Given the description of an element on the screen output the (x, y) to click on. 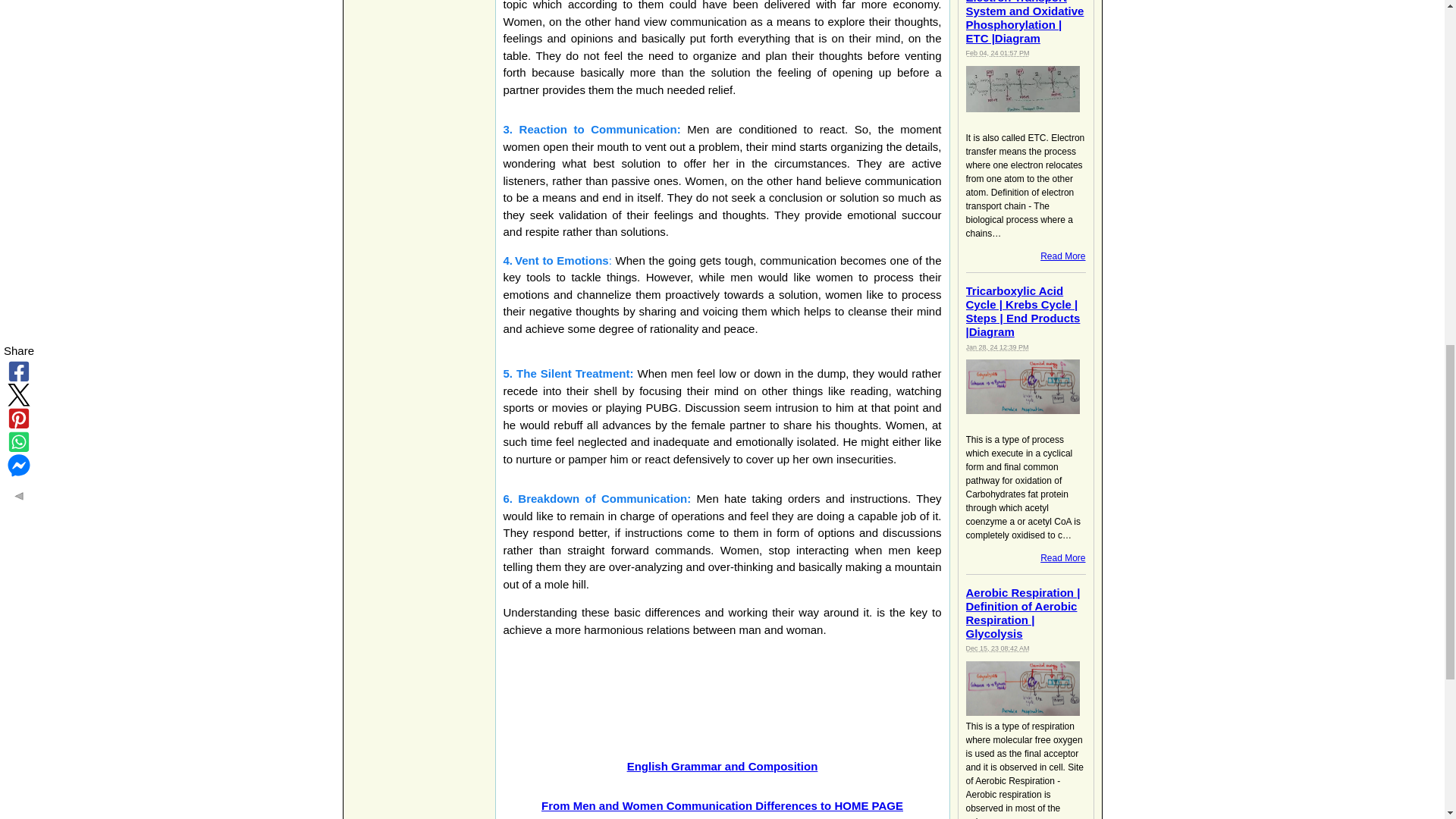
2023-12-15T08:42:15-0500 (997, 647)
2024-01-28T12:39:03-0500 (997, 347)
Read More (1062, 255)
Read More (1062, 557)
English Grammar and Composition (722, 766)
2024-02-04T13:57:23-0500 (997, 52)
From Men and Women Communication Differences to HOME PAGE (721, 805)
